Given the description of an element on the screen output the (x, y) to click on. 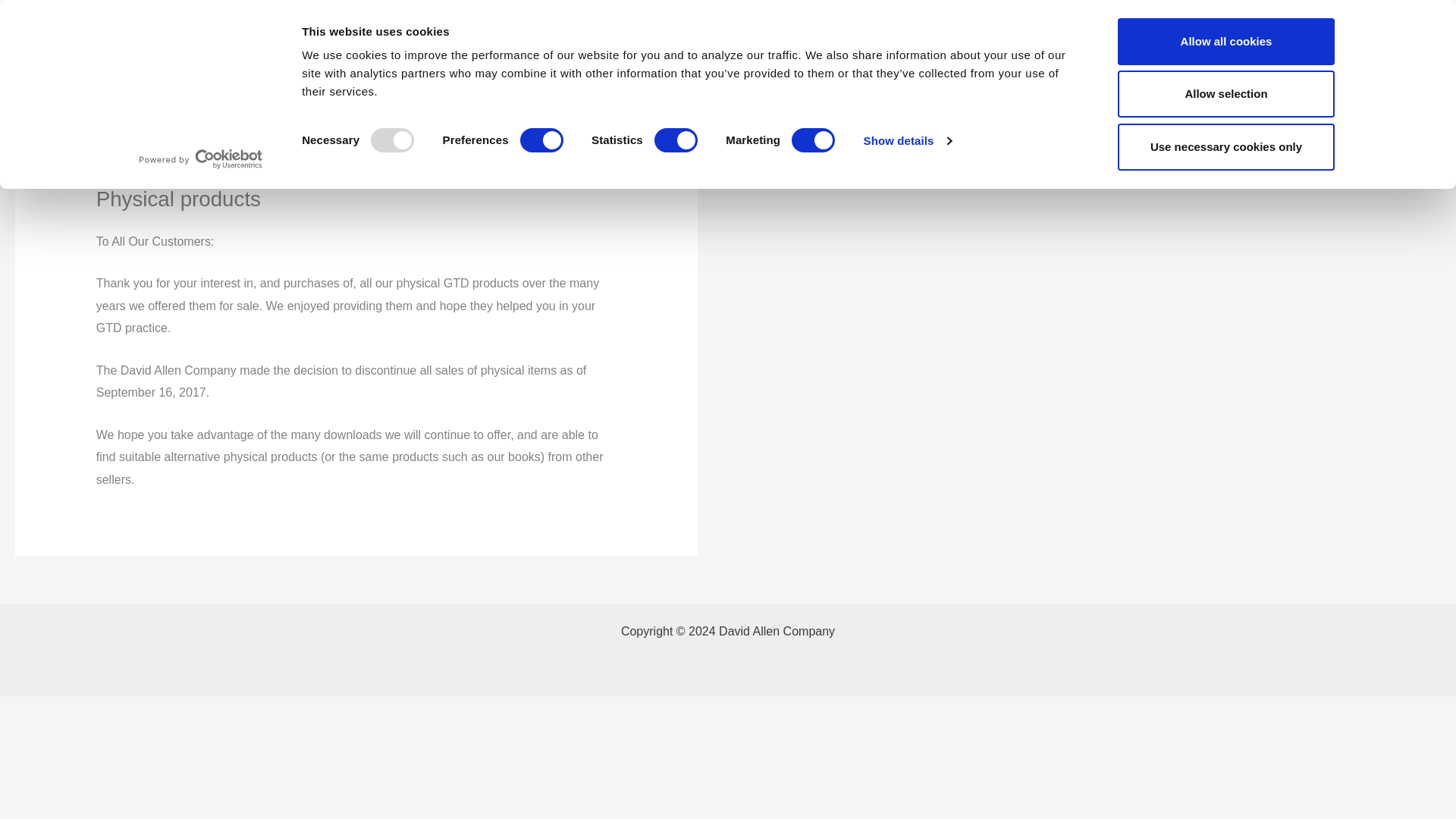
Show details (907, 140)
Allow all cookies (1226, 41)
Maps (1147, 36)
Use necessary cookies only (1226, 146)
Allow selection (1226, 93)
Setup Guides (1072, 36)
